Given the description of an element on the screen output the (x, y) to click on. 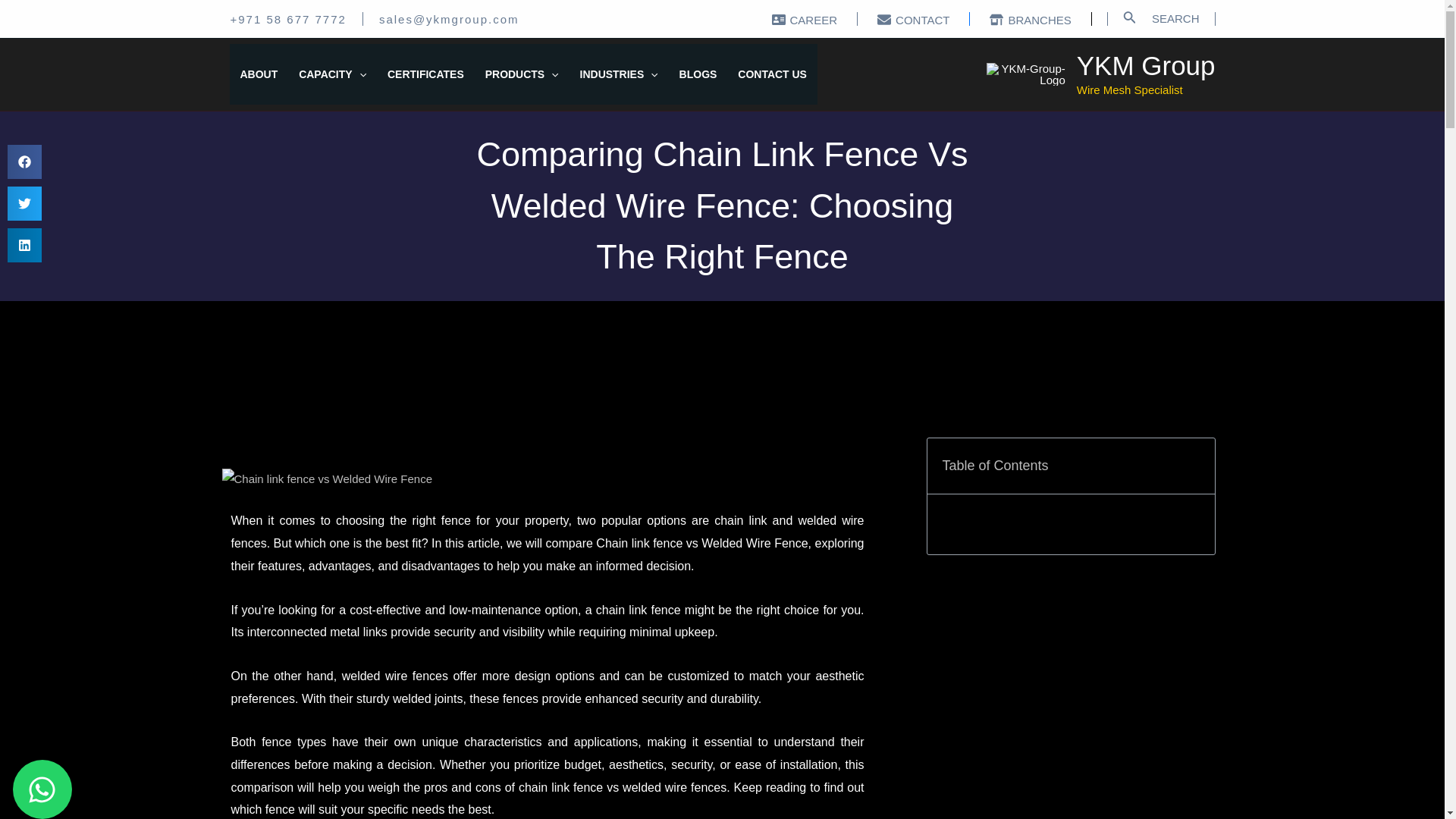
CONTACT (912, 19)
ABOUT (258, 74)
PRODUCTS (521, 74)
CAREER (805, 19)
CAPACITY (332, 74)
CERTIFICATES (425, 74)
BRANCHES (1030, 19)
